Given the description of an element on the screen output the (x, y) to click on. 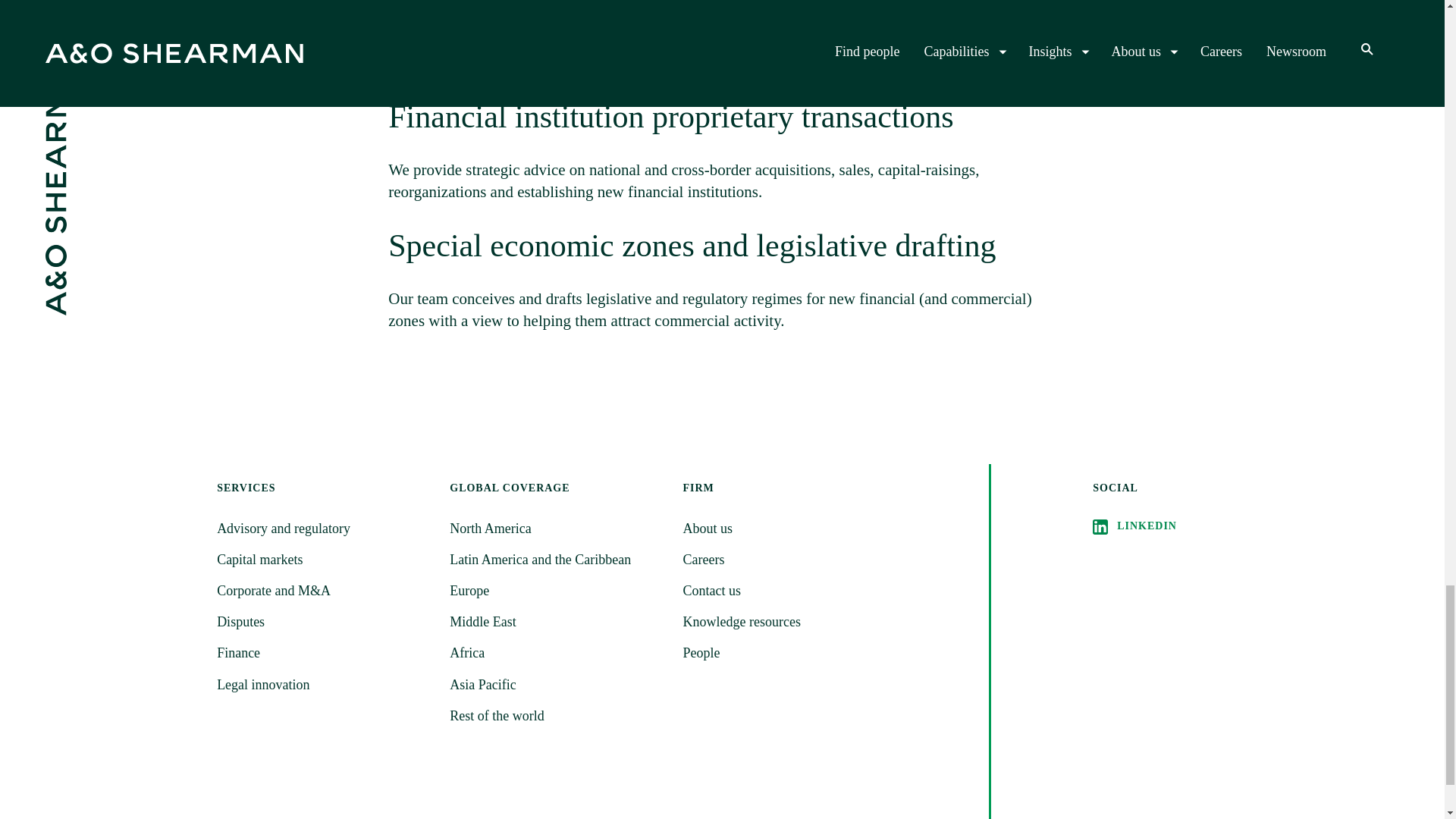
Europe (556, 590)
Asia Pacific (556, 684)
Finance (323, 652)
Contact us (789, 590)
Middle East (556, 621)
Latin America and the Caribbean (556, 559)
About us (789, 528)
Legal innovation (323, 684)
People (789, 652)
Advisory and regulatory (323, 528)
